Given the description of an element on the screen output the (x, y) to click on. 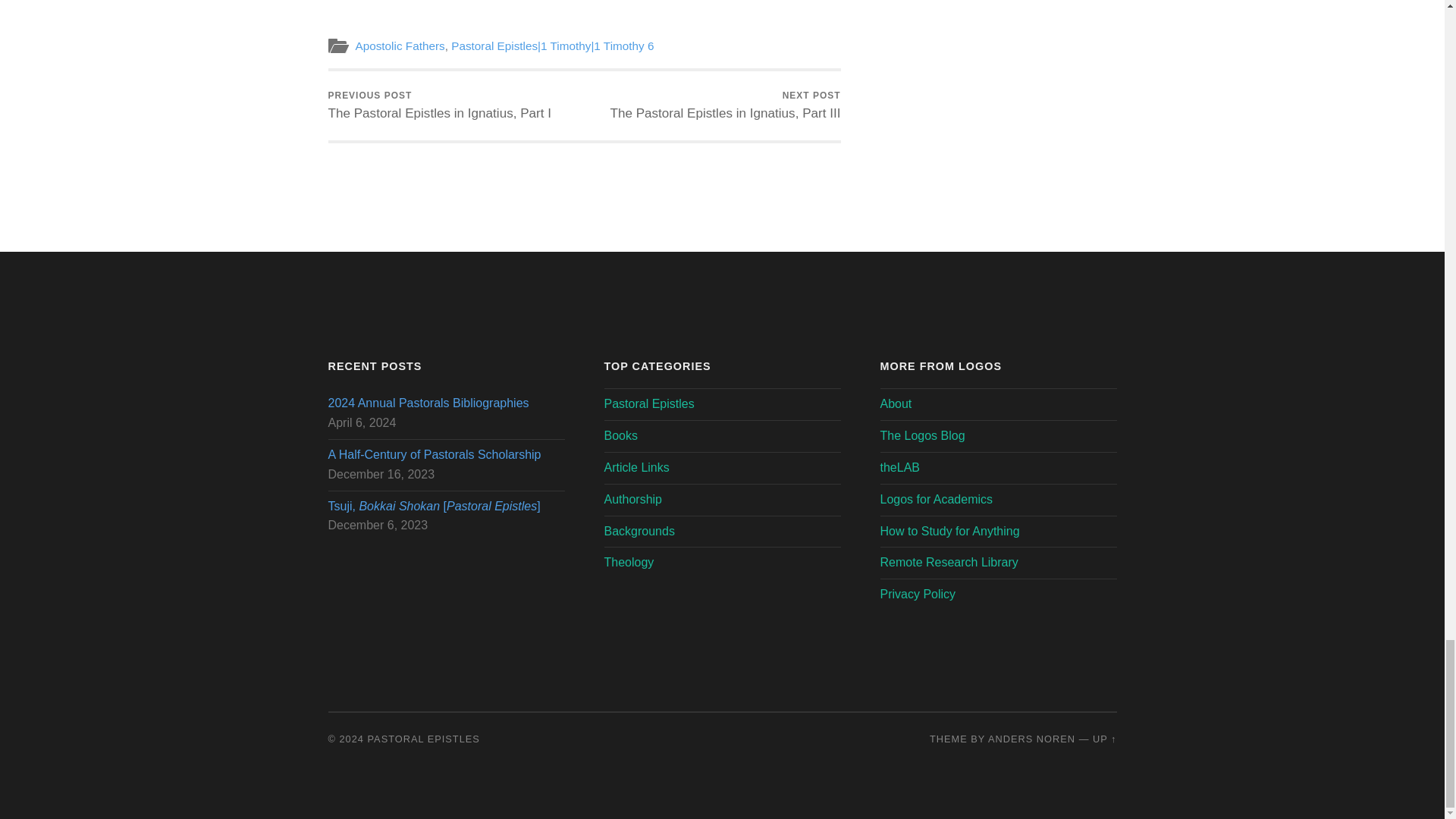
To the top (439, 105)
Apostolic Fathers (1104, 738)
